Given the description of an element on the screen output the (x, y) to click on. 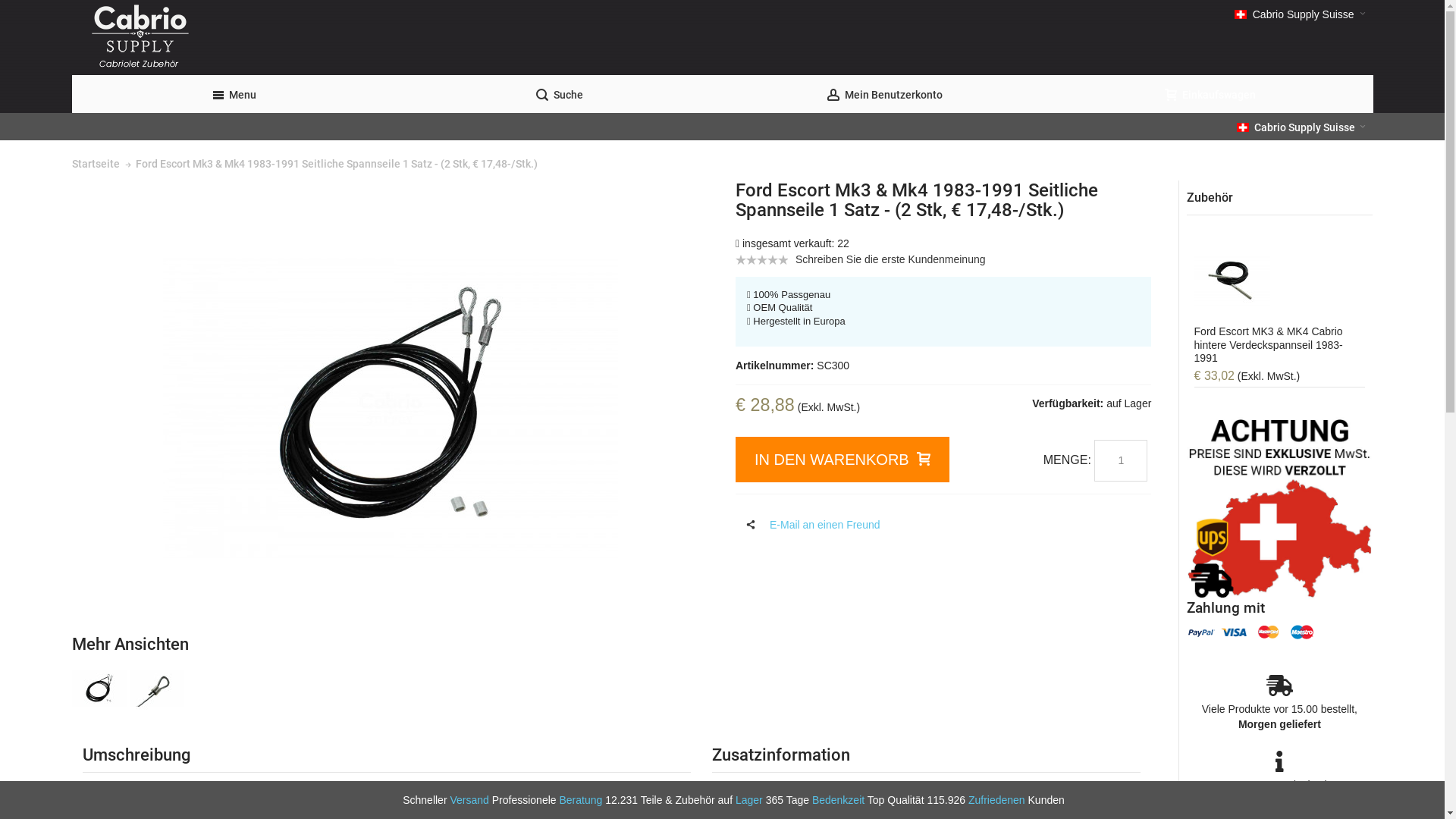
Menu Element type: text (233, 93)
Menge Element type: hover (1120, 460)
  Cabrio Supply Suisse Element type: text (1300, 126)
Einkaufswagen Element type: text (1210, 93)
IN DEN WARENKORB Element type: text (842, 459)
E-Mail an einen Freund Element type: text (807, 524)
Startseite Element type: text (95, 164)
Cabrio Supply Element type: hover (461, 37)
Mein Benutzerkonto Element type: text (884, 93)
  Cabrio Supply Suisse Element type: text (1299, 13)
Schreiben Sie die erste Kundenmeinung Element type: text (890, 259)
Suche Element type: text (559, 93)
